Given the description of an element on the screen output the (x, y) to click on. 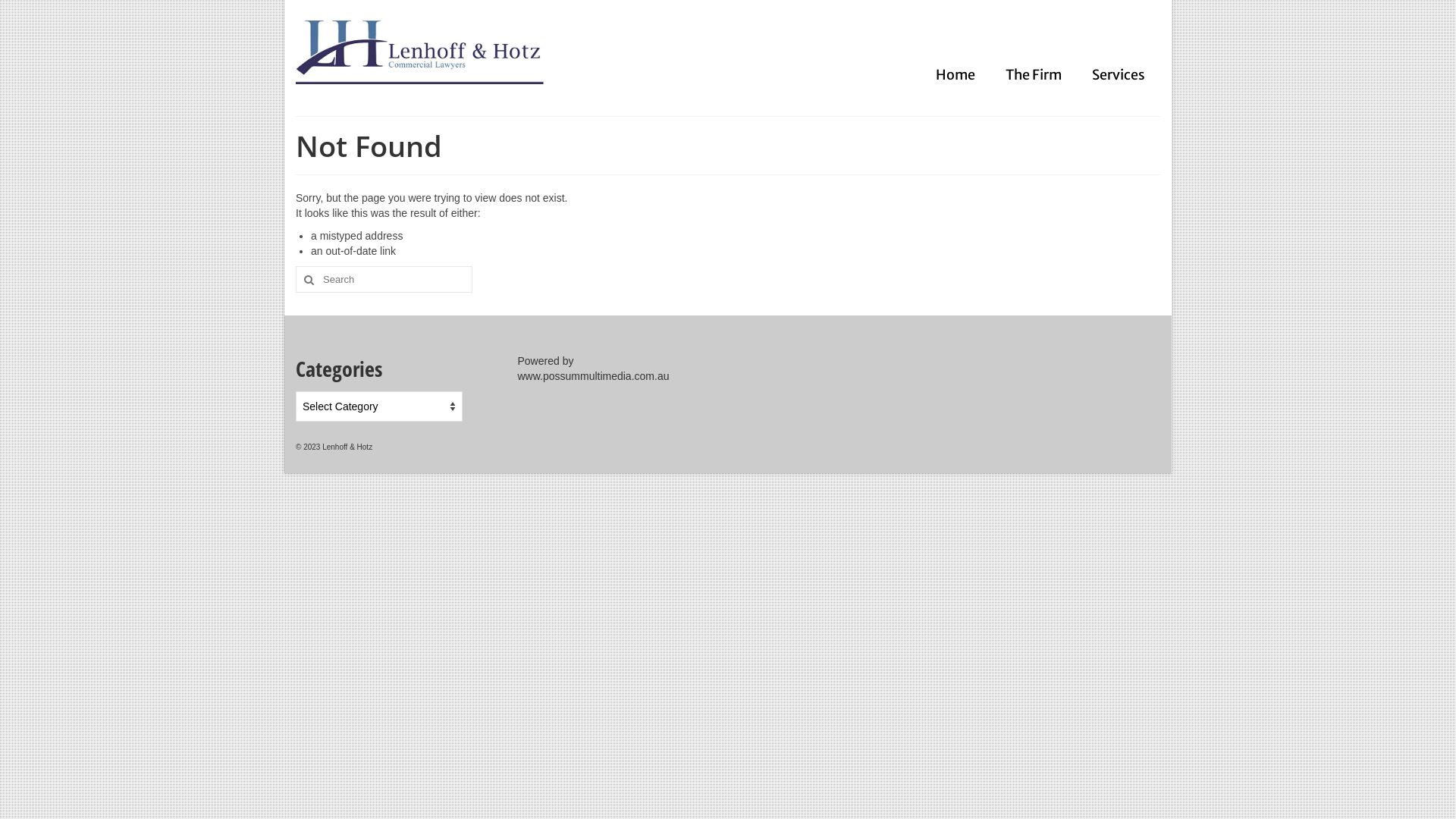
Home Element type: text (955, 74)
The Firm Element type: text (1033, 74)
Services Element type: text (1118, 74)
